Given the description of an element on the screen output the (x, y) to click on. 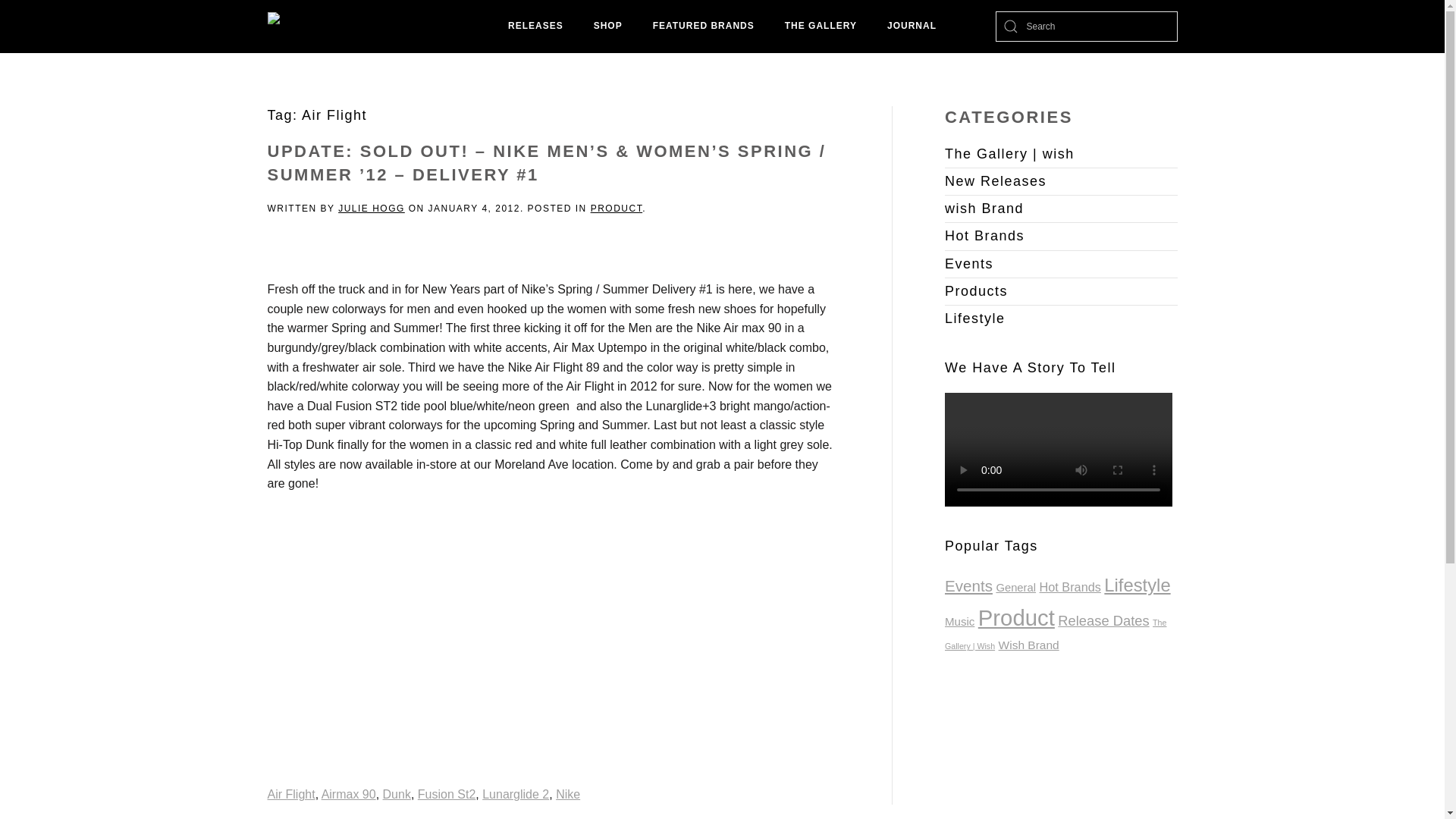
Airmax 90 (348, 793)
FEATURED BRANDS (703, 26)
PRODUCT (617, 208)
Hot Brands (1060, 235)
Product (1016, 617)
Music (959, 621)
Hot Brands (1069, 586)
Products (1060, 291)
General (1015, 587)
Lifestyle (1060, 318)
